Given the description of an element on the screen output the (x, y) to click on. 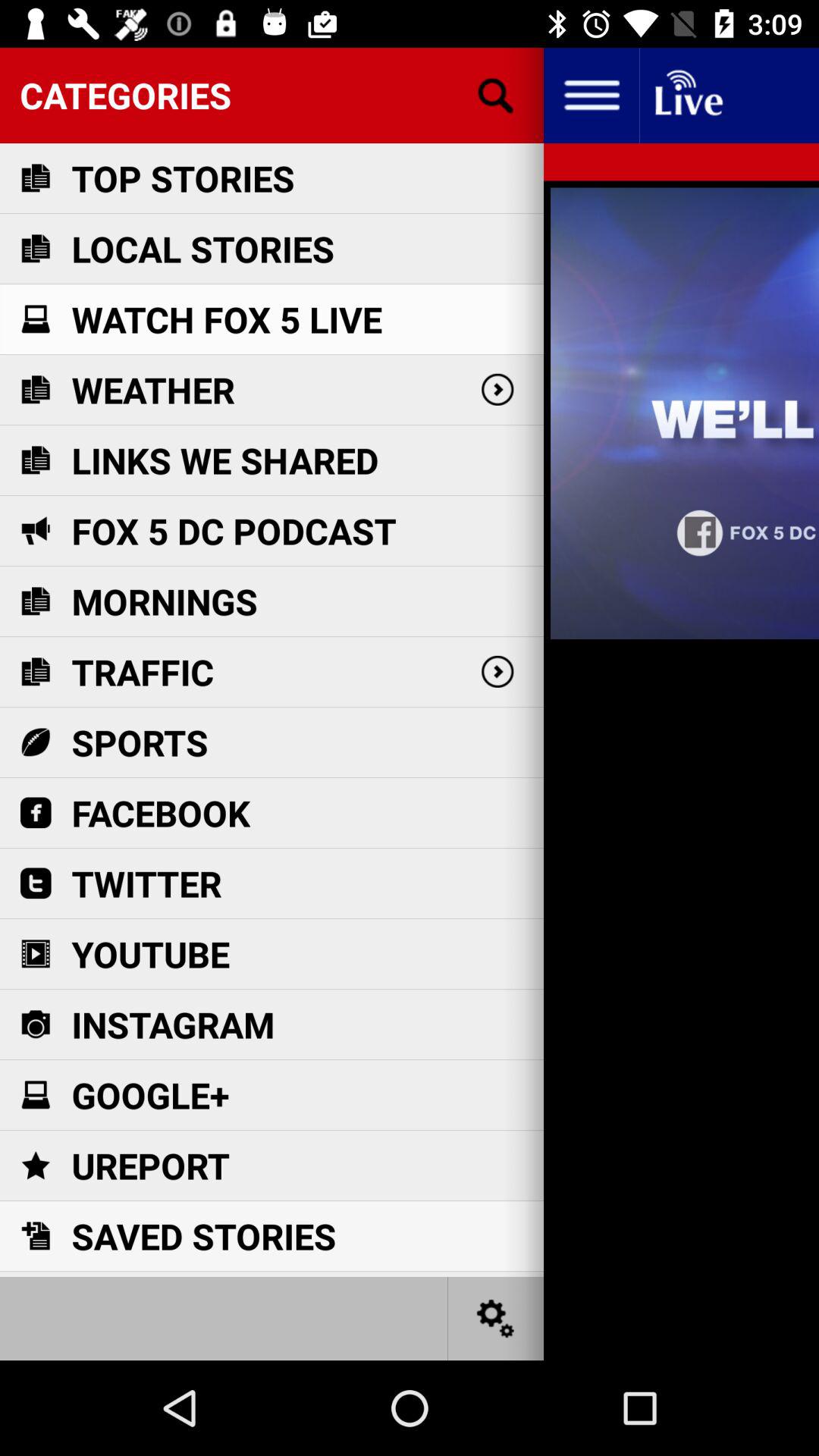
wifi (687, 95)
